Given the description of an element on the screen output the (x, y) to click on. 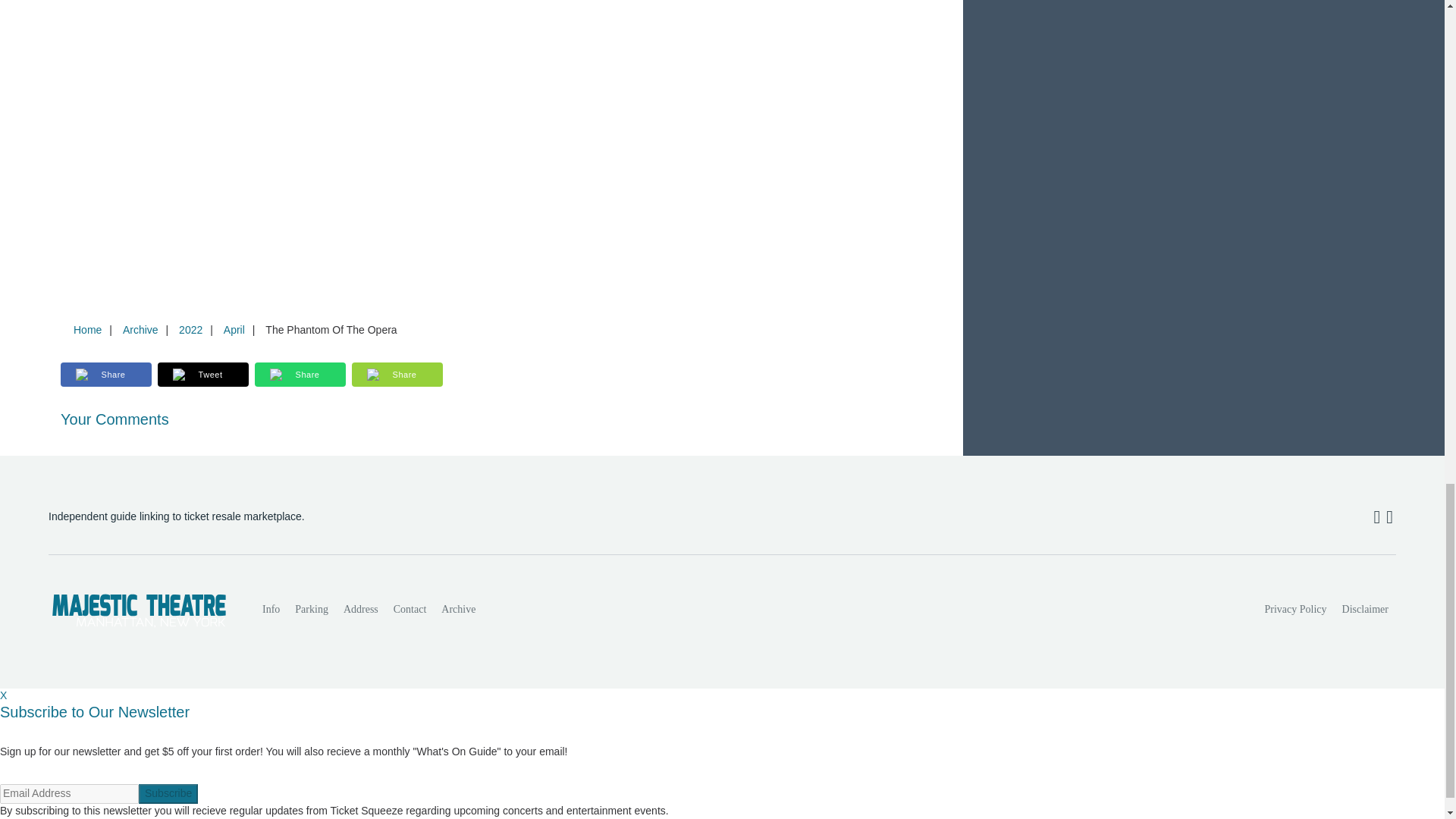
Home (87, 329)
Archive (140, 329)
Subscribe (168, 793)
Archive (458, 609)
Address (360, 609)
Privacy Policy (1296, 609)
Contact (409, 609)
April (233, 329)
2022 (190, 329)
Disclaimer (1365, 609)
Info (270, 609)
Parking (311, 609)
